Given the description of an element on the screen output the (x, y) to click on. 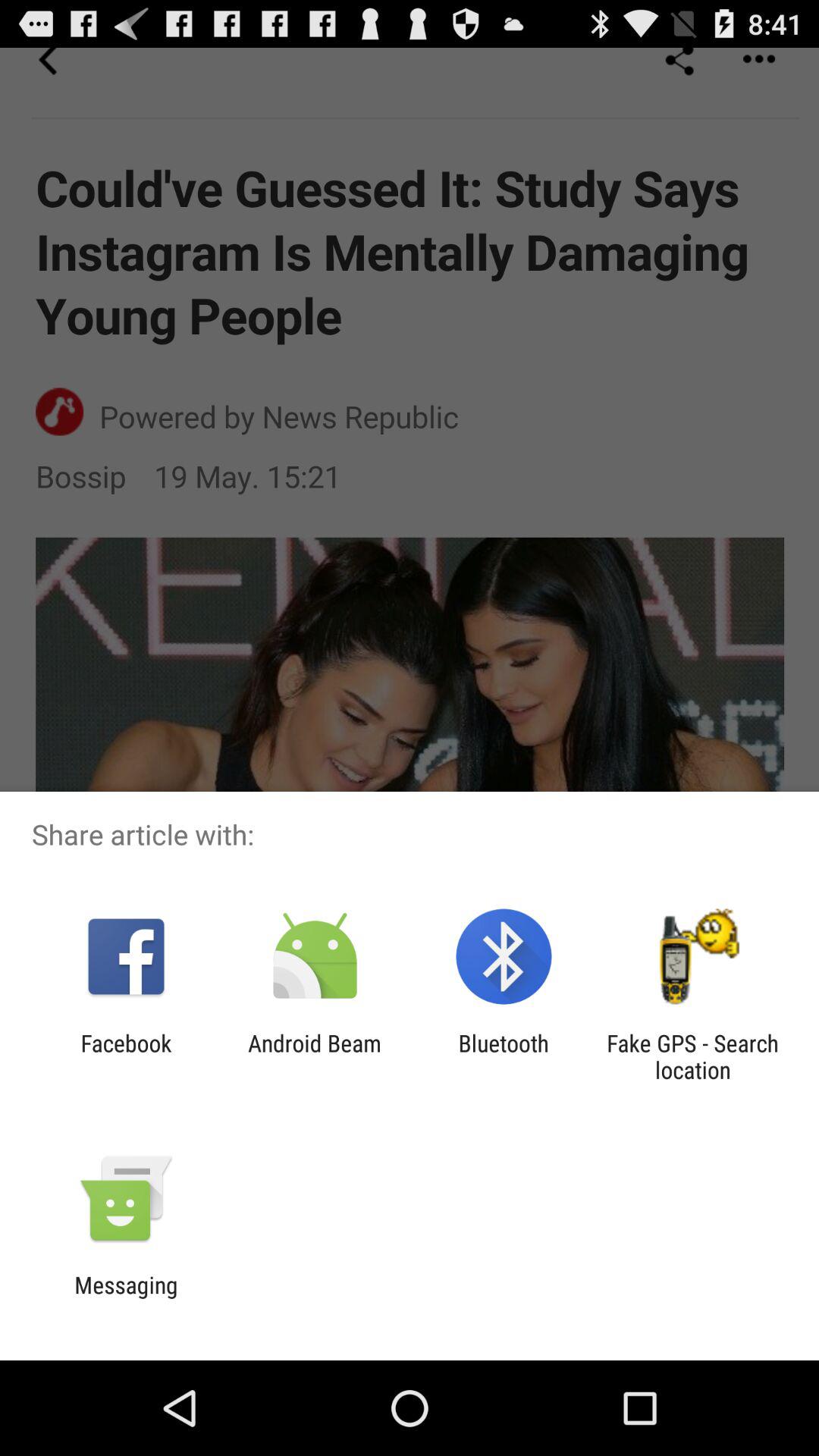
turn on icon next to the android beam icon (503, 1056)
